Given the description of an element on the screen output the (x, y) to click on. 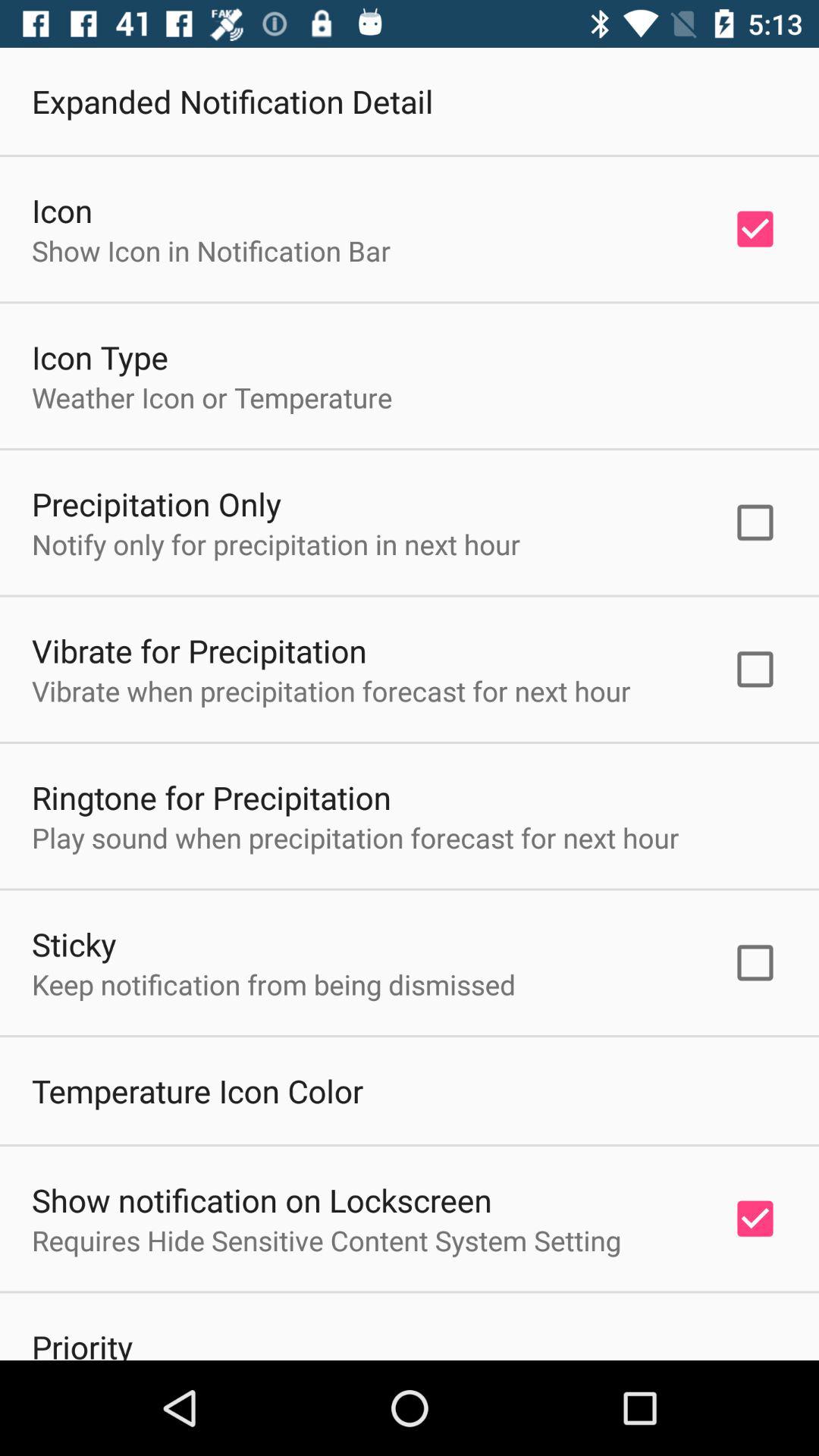
press the item below the play sound when (73, 943)
